Given the description of an element on the screen output the (x, y) to click on. 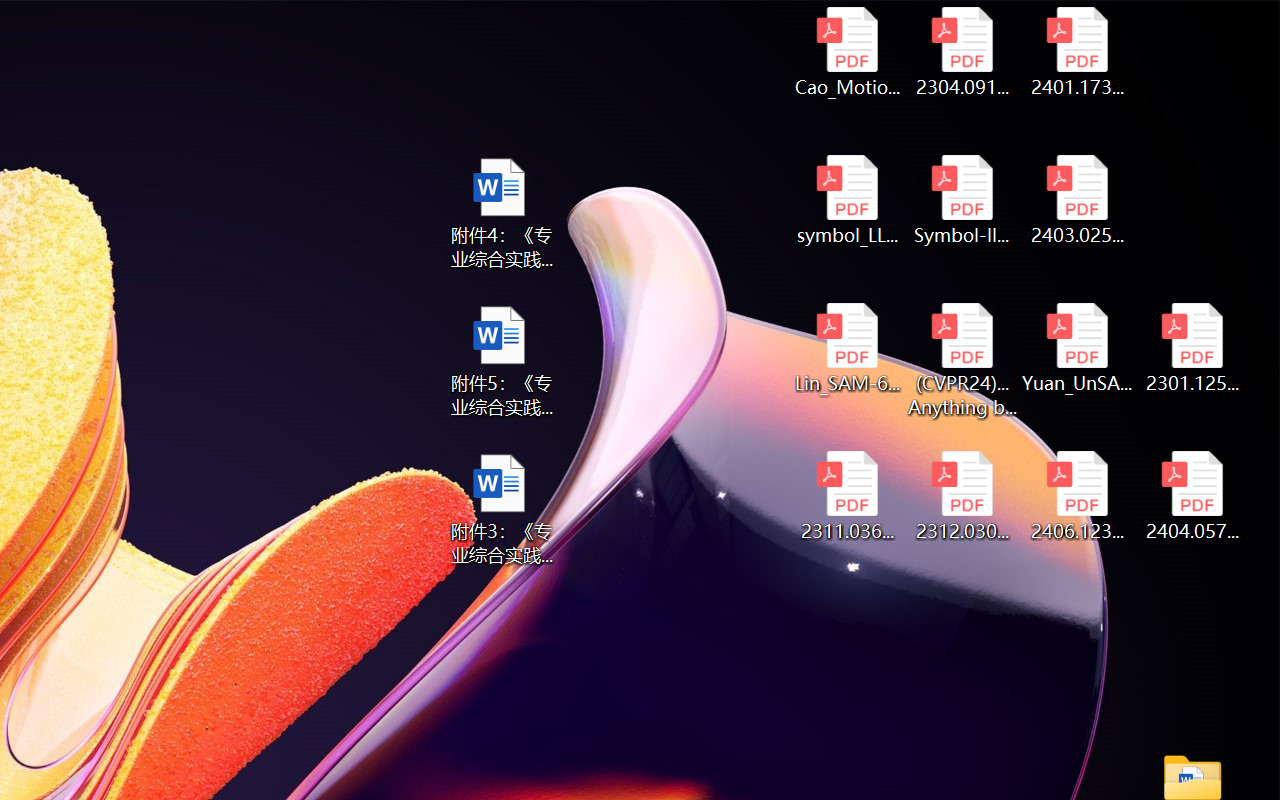
(CVPR24)Matching Anything by Segmenting Anything.pdf (962, 360)
2403.02502v1.pdf (1077, 200)
2311.03658v2.pdf (846, 496)
2304.09121v3.pdf (962, 52)
2401.17399v1.pdf (1077, 52)
Symbol-llm-v2.pdf (962, 200)
2406.12373v2.pdf (1077, 496)
2312.03032v2.pdf (962, 496)
2404.05719v1.pdf (1192, 496)
